Given the description of an element on the screen output the (x, y) to click on. 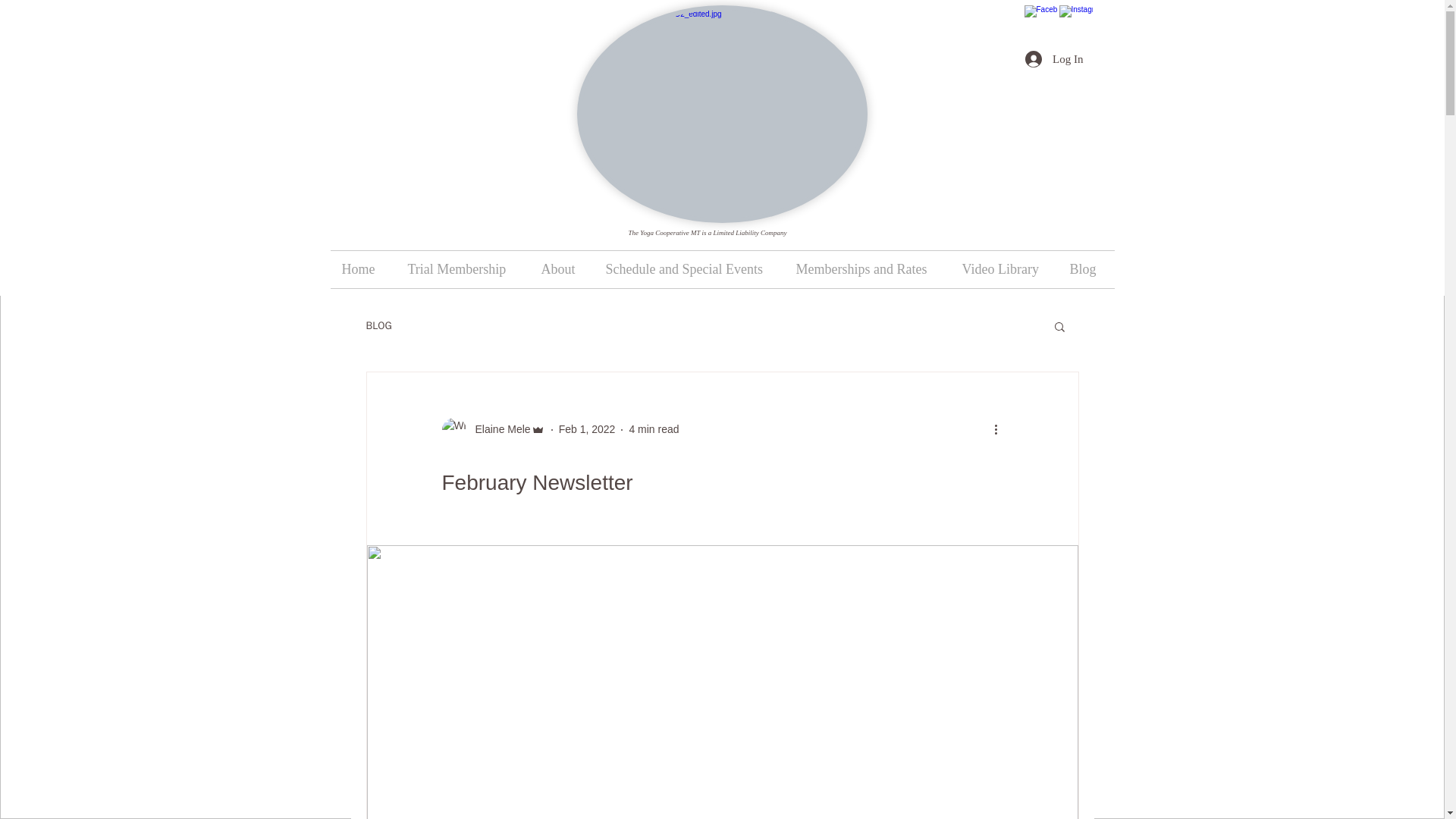
Video Library (1004, 269)
Schedule and Special Events (689, 269)
About (561, 269)
Log In (1053, 58)
Blog (1086, 269)
Trial Membership (462, 269)
BLOG (378, 325)
Home (363, 269)
Memberships and Rates (867, 269)
Elaine Mele (497, 429)
Elaine Mele (492, 429)
Feb 1, 2022 (587, 428)
4 min read (653, 428)
